Given the description of an element on the screen output the (x, y) to click on. 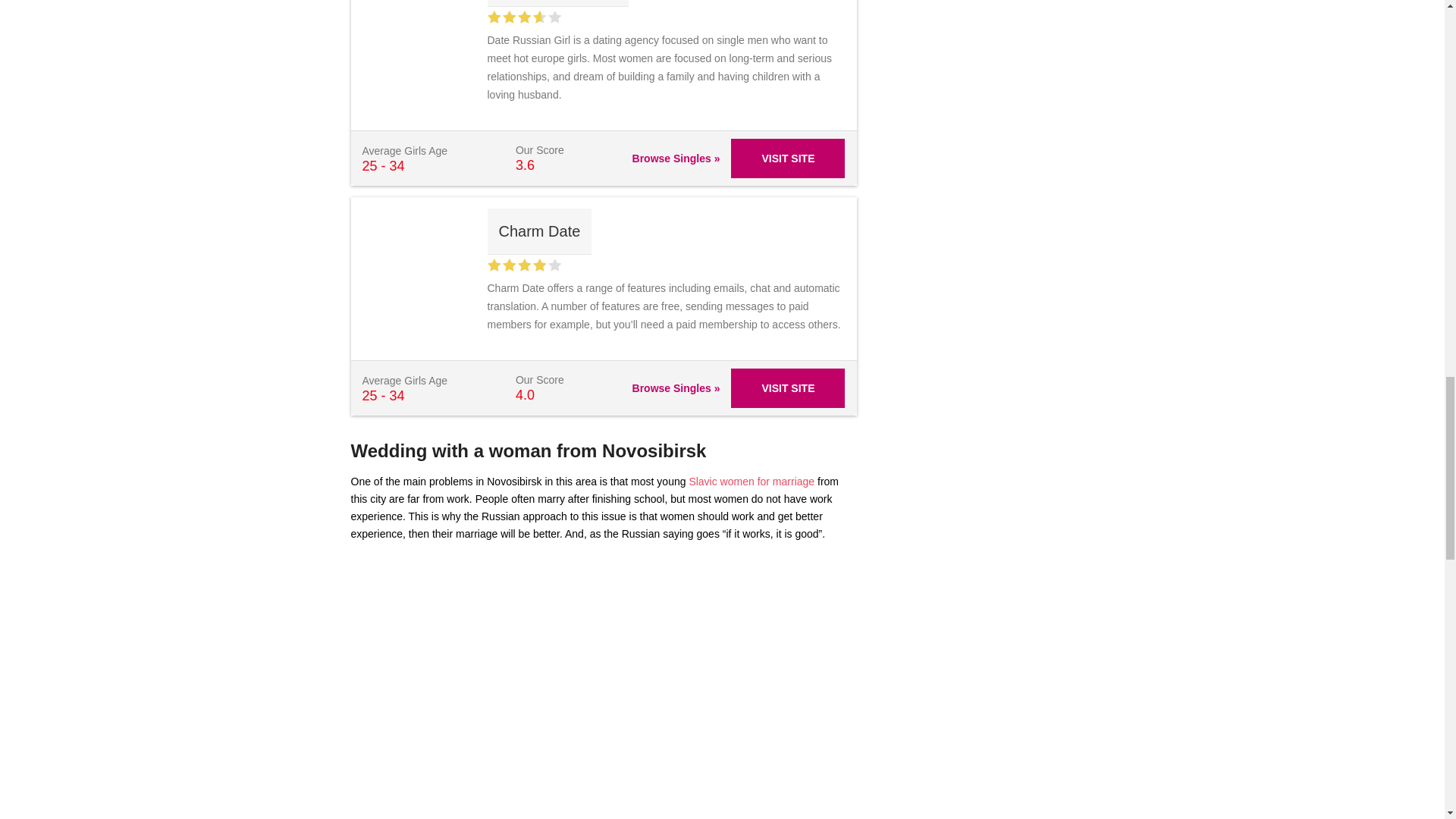
VISIT SITE (787, 387)
Slavic women for marriage (750, 481)
Charm Date (538, 231)
VISIT SITE (787, 158)
Date Russian Girl (557, 3)
Our Score (523, 16)
Our Score (523, 264)
